Given the description of an element on the screen output the (x, y) to click on. 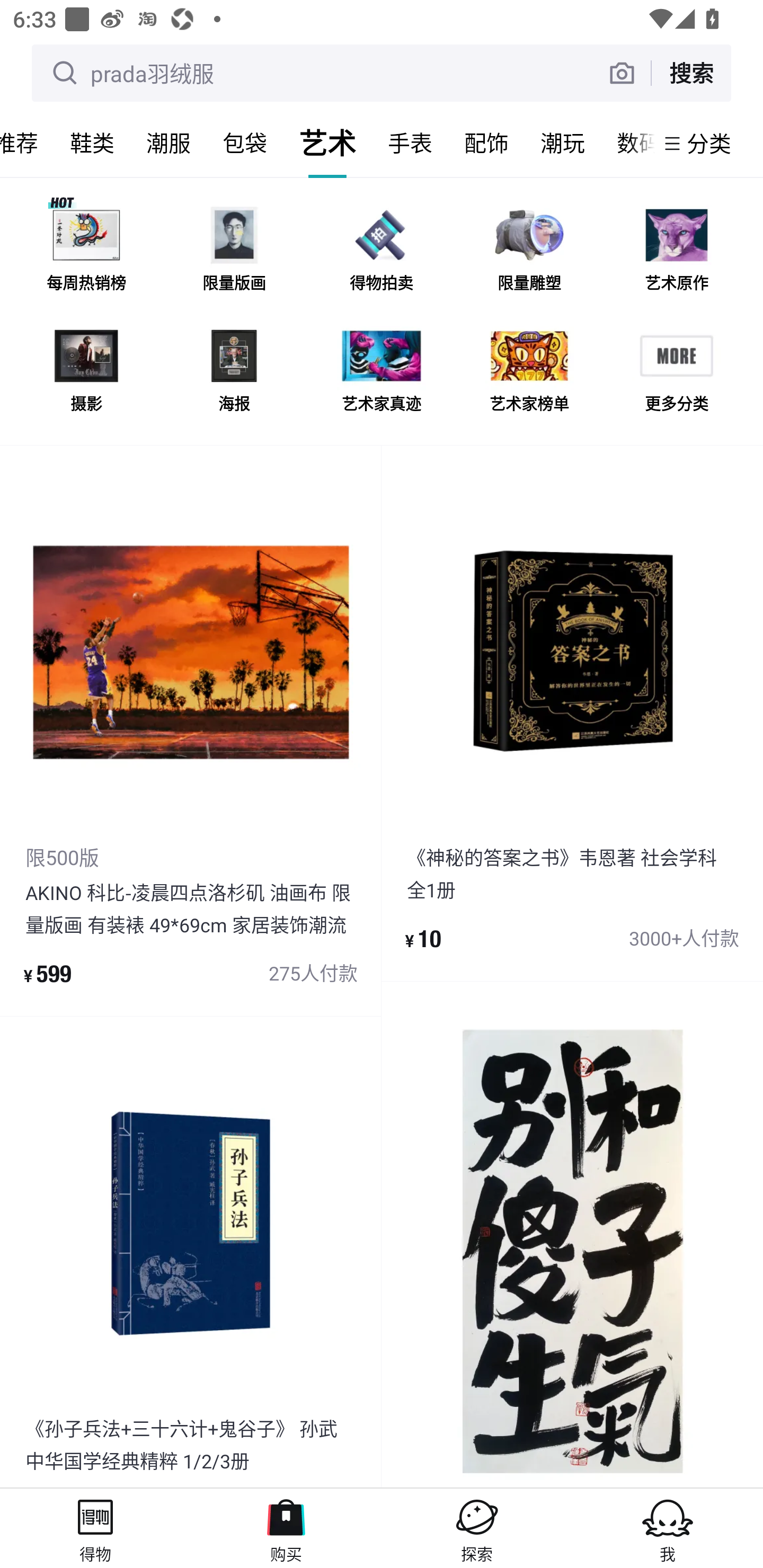
搜索 (690, 72)
鞋类 (92, 143)
潮服 (168, 143)
包袋 (244, 143)
艺术 (327, 143)
手表 (410, 143)
配饰 (486, 143)
潮玩 (562, 143)
分类 (708, 143)
每周热销榜 (86, 251)
限量版画 (233, 251)
得物拍卖 (381, 251)
限量雕塑 (528, 251)
艺术原作 (676, 251)
摄影 (86, 372)
海报 (233, 372)
艺术家真迹 (381, 372)
艺术家榜单 (528, 372)
更多分类 (676, 372)
《神秘的答案之书》韦恩著 社会学科 
全1册 ¥ 10 3000+人付款 (572, 713)
《孙子兵法+三十六计+鬼谷子》 孙武 
中华国学经典精粹 1/2/3册 (190, 1252)
得物 (95, 1528)
购买 (285, 1528)
探索 (476, 1528)
我 (667, 1528)
